Given the description of an element on the screen output the (x, y) to click on. 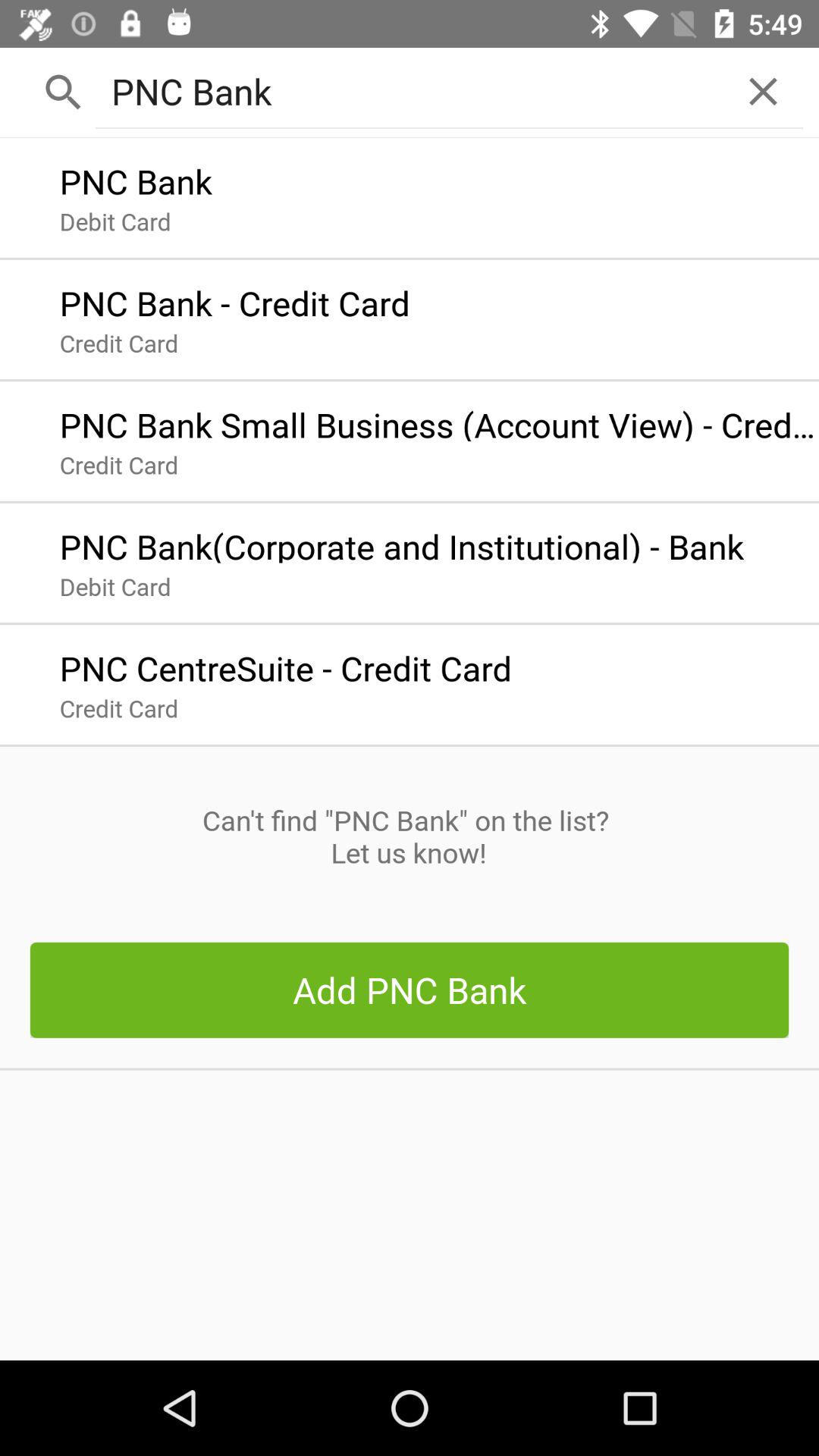
swipe to can t find icon (408, 836)
